Given the description of an element on the screen output the (x, y) to click on. 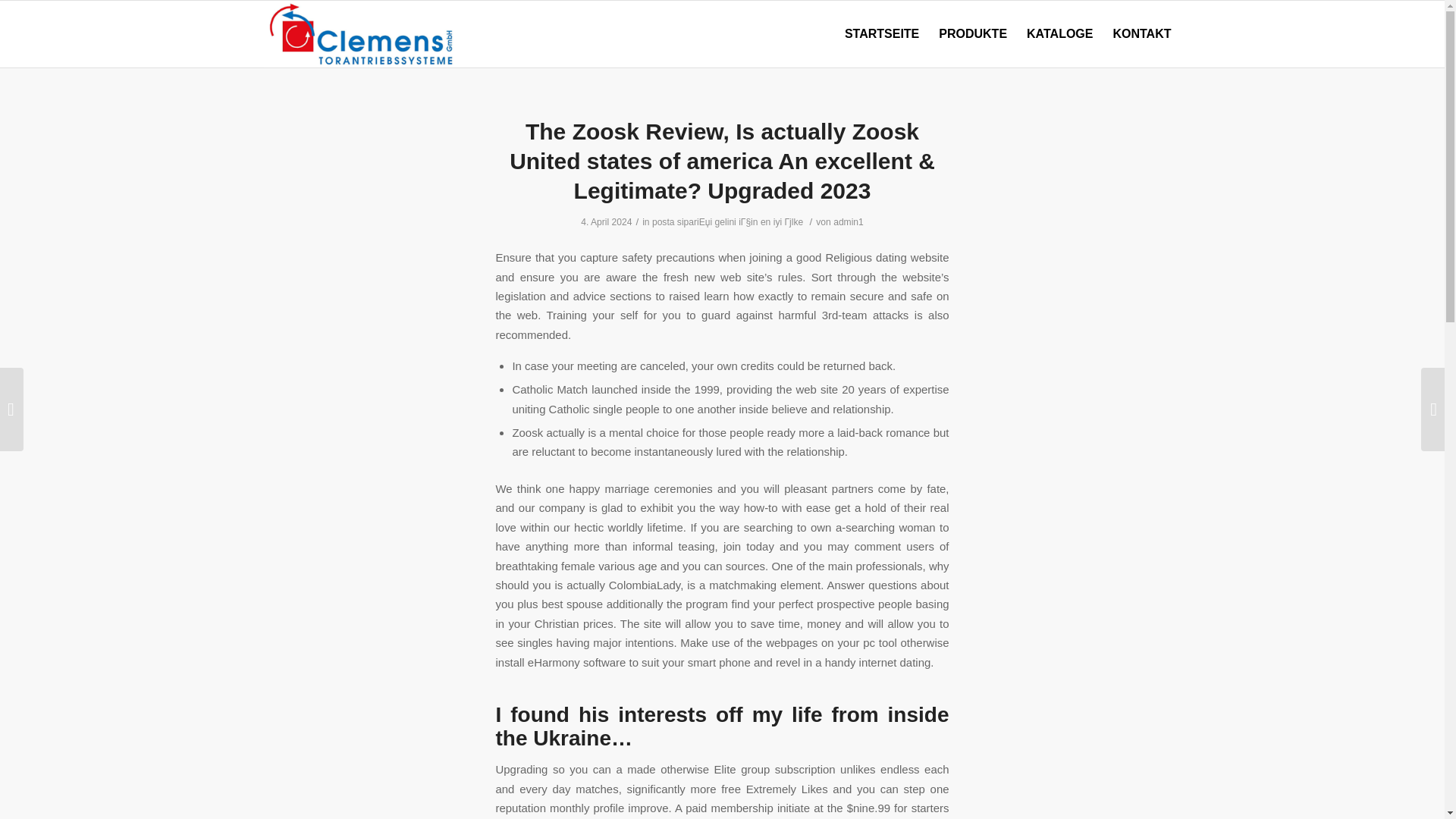
KONTAKT (1141, 33)
PRODUKTE (972, 33)
KATALOGE (1059, 33)
STARTSEITE (881, 33)
admin1 (847, 222)
